Given the description of an element on the screen output the (x, y) to click on. 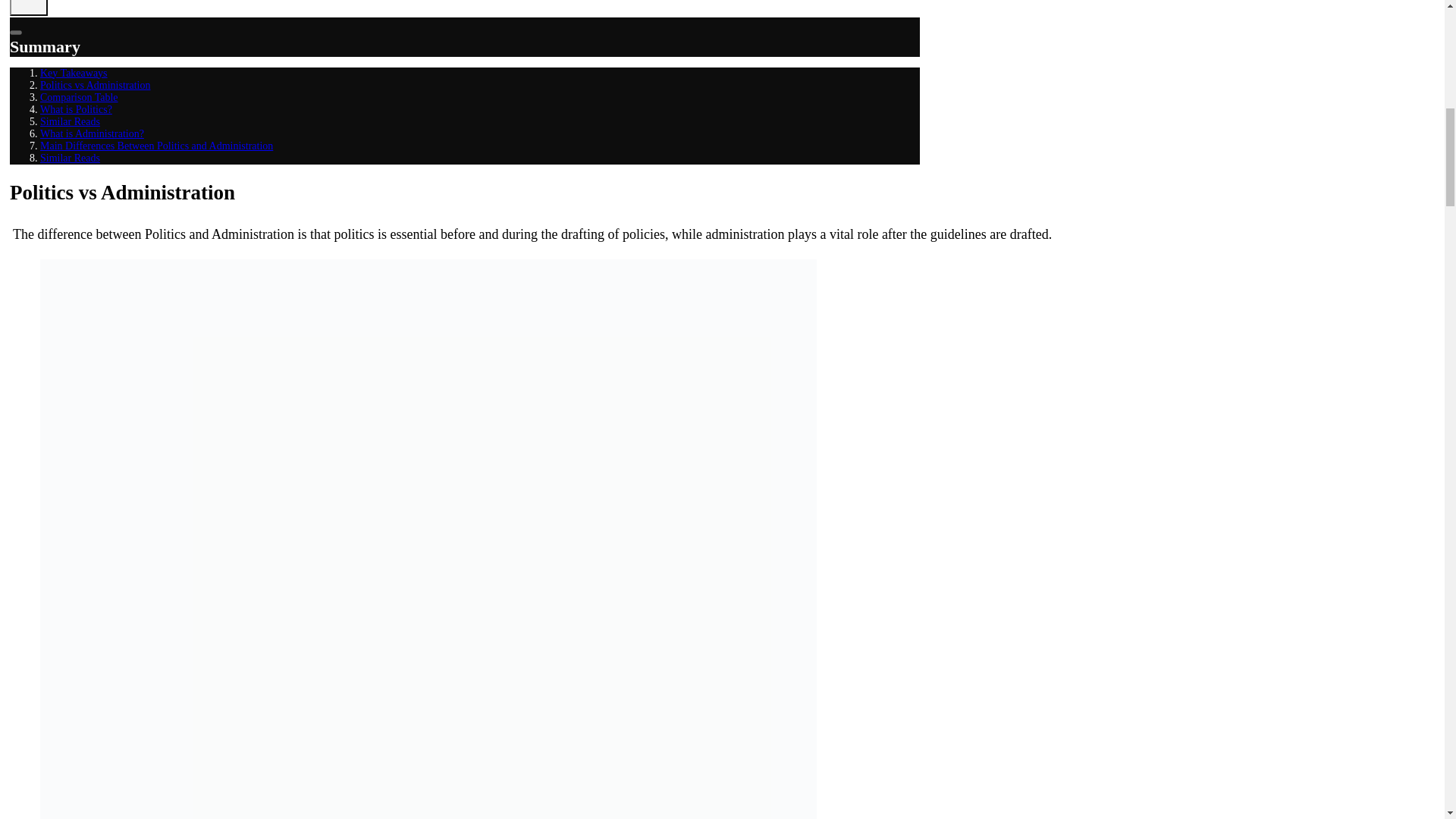
Similar Reads (70, 121)
Similar Reads (70, 157)
Politics vs Administration (94, 84)
Key Takeaways (73, 72)
Main Differences Between Politics and Administration (156, 145)
Comparison Table (78, 97)
What is Administration? (92, 133)
click To Maximize The Table Of Contents (29, 7)
What is Politics? (76, 109)
